Given the description of an element on the screen output the (x, y) to click on. 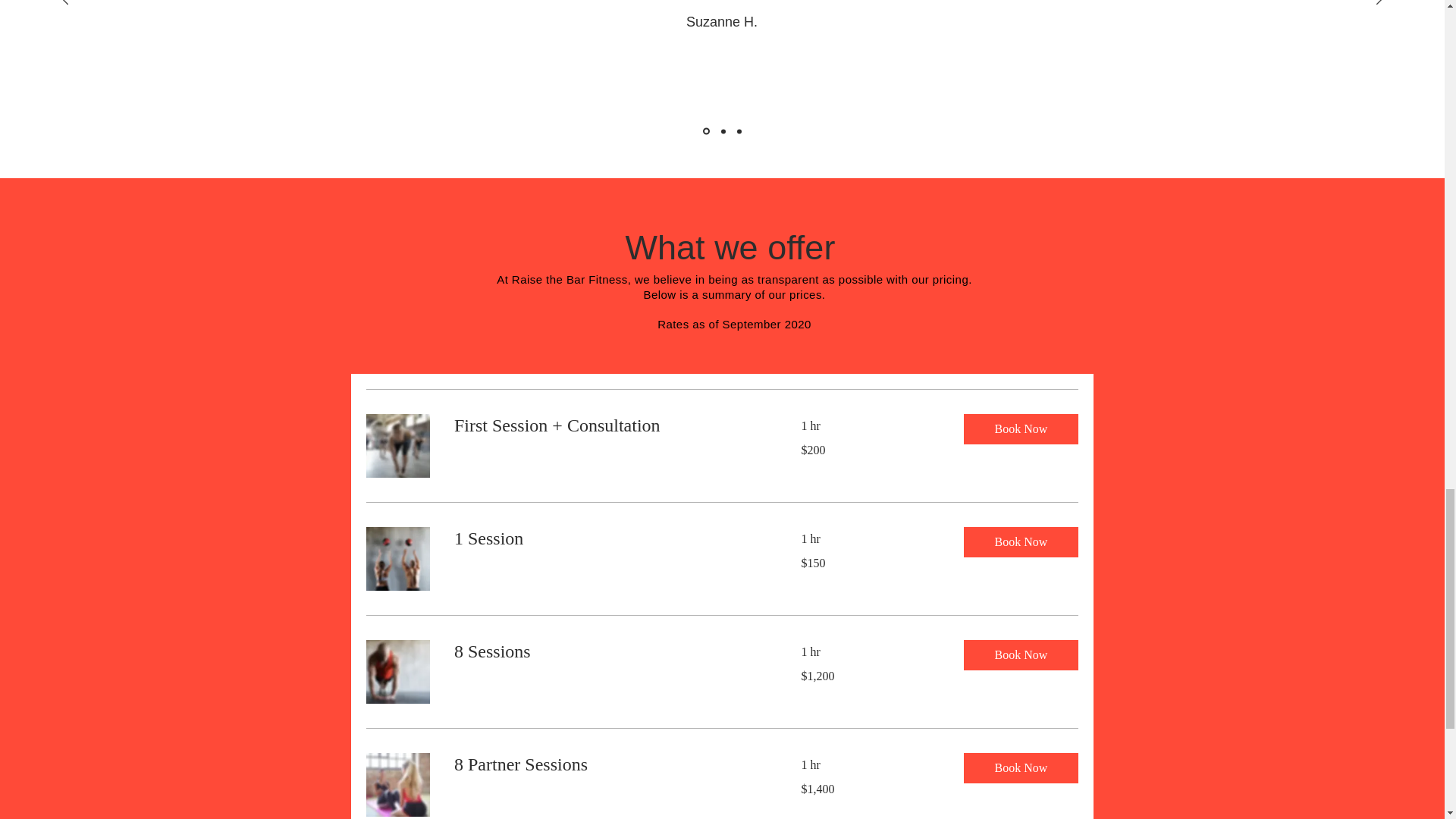
Book Now (1019, 542)
Book Now (1019, 654)
Book Now (1019, 767)
Book Now (1019, 429)
8 Partner Sessions (608, 764)
1 Session (608, 539)
8 Sessions (608, 651)
